Given the description of an element on the screen output the (x, y) to click on. 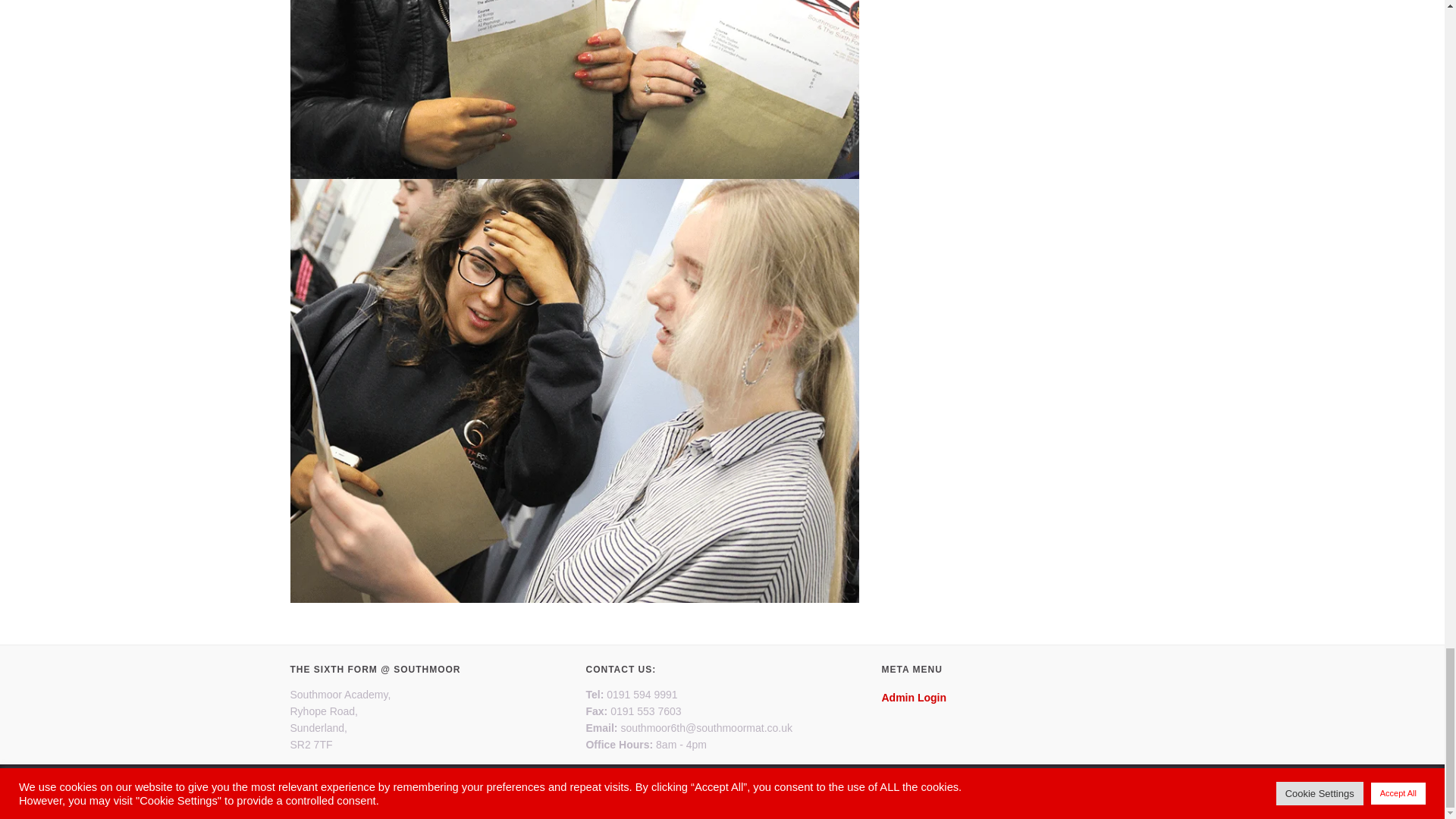
Admin Login (913, 697)
